Given the description of an element on the screen output the (x, y) to click on. 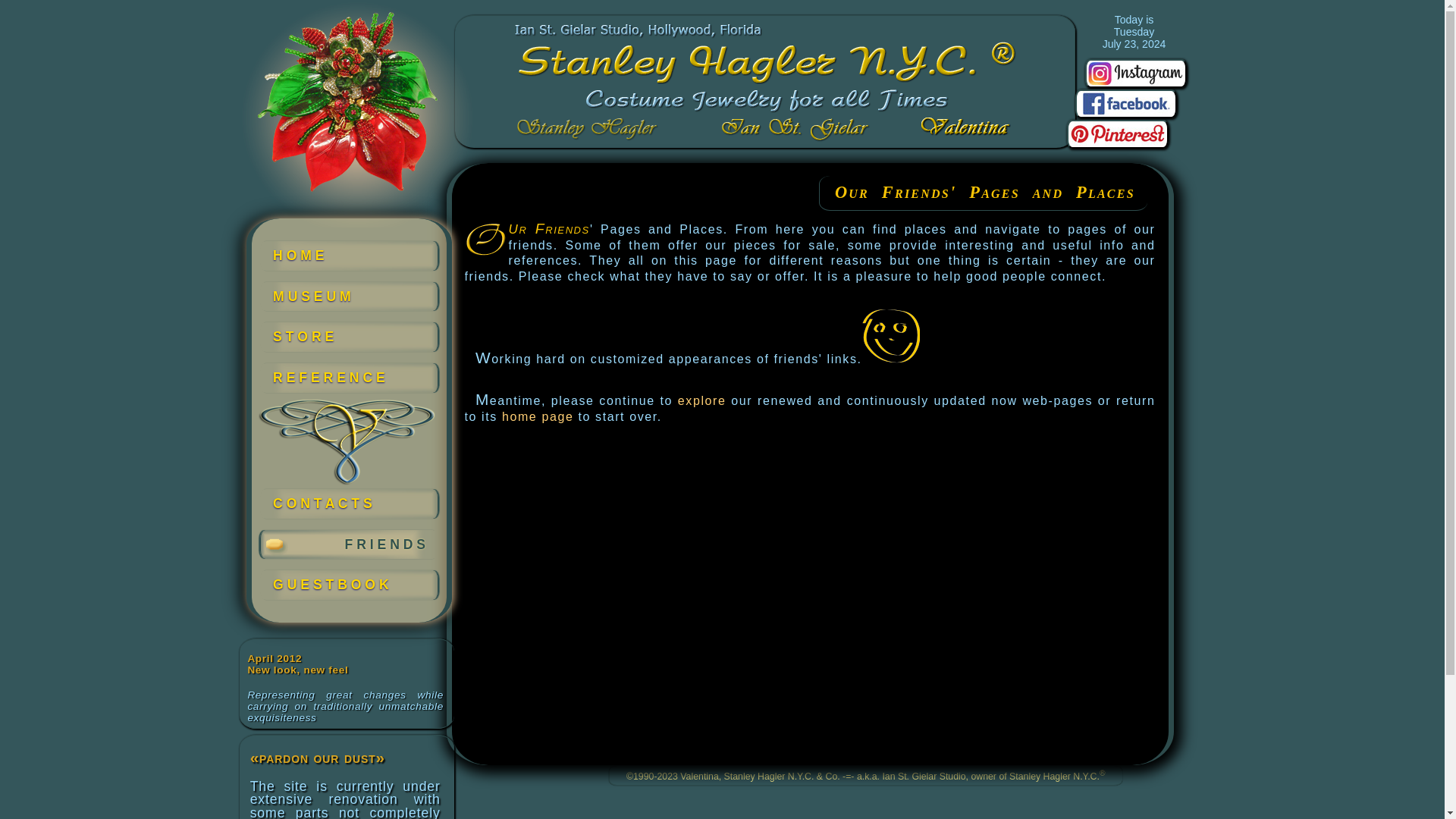
explore (702, 400)
home page (537, 416)
